Given the description of an element on the screen output the (x, y) to click on. 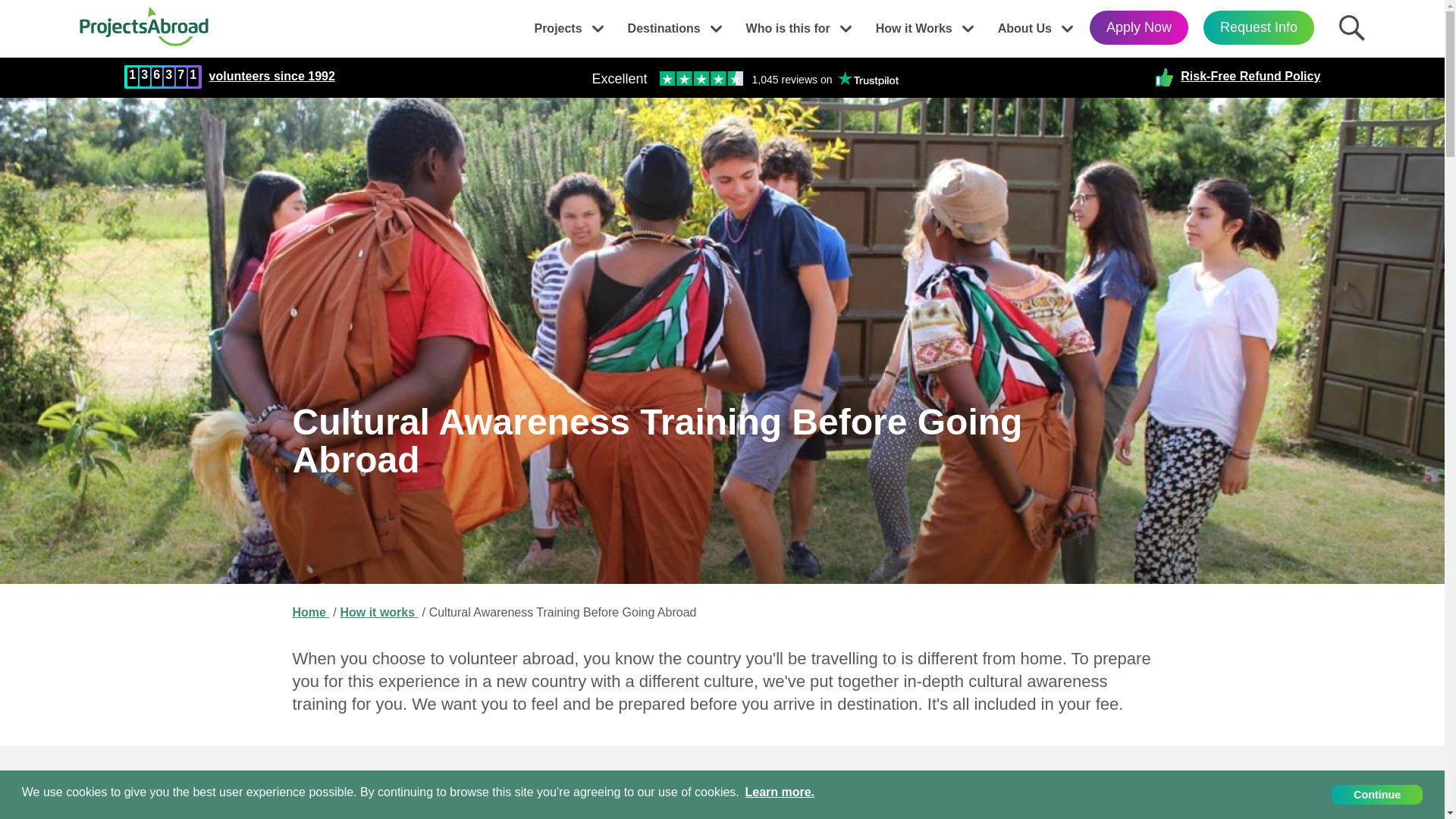
Customer reviews powered by Trustpilot (745, 77)
Learn more. (779, 792)
Projects (557, 24)
Continue (1377, 794)
